Given the description of an element on the screen output the (x, y) to click on. 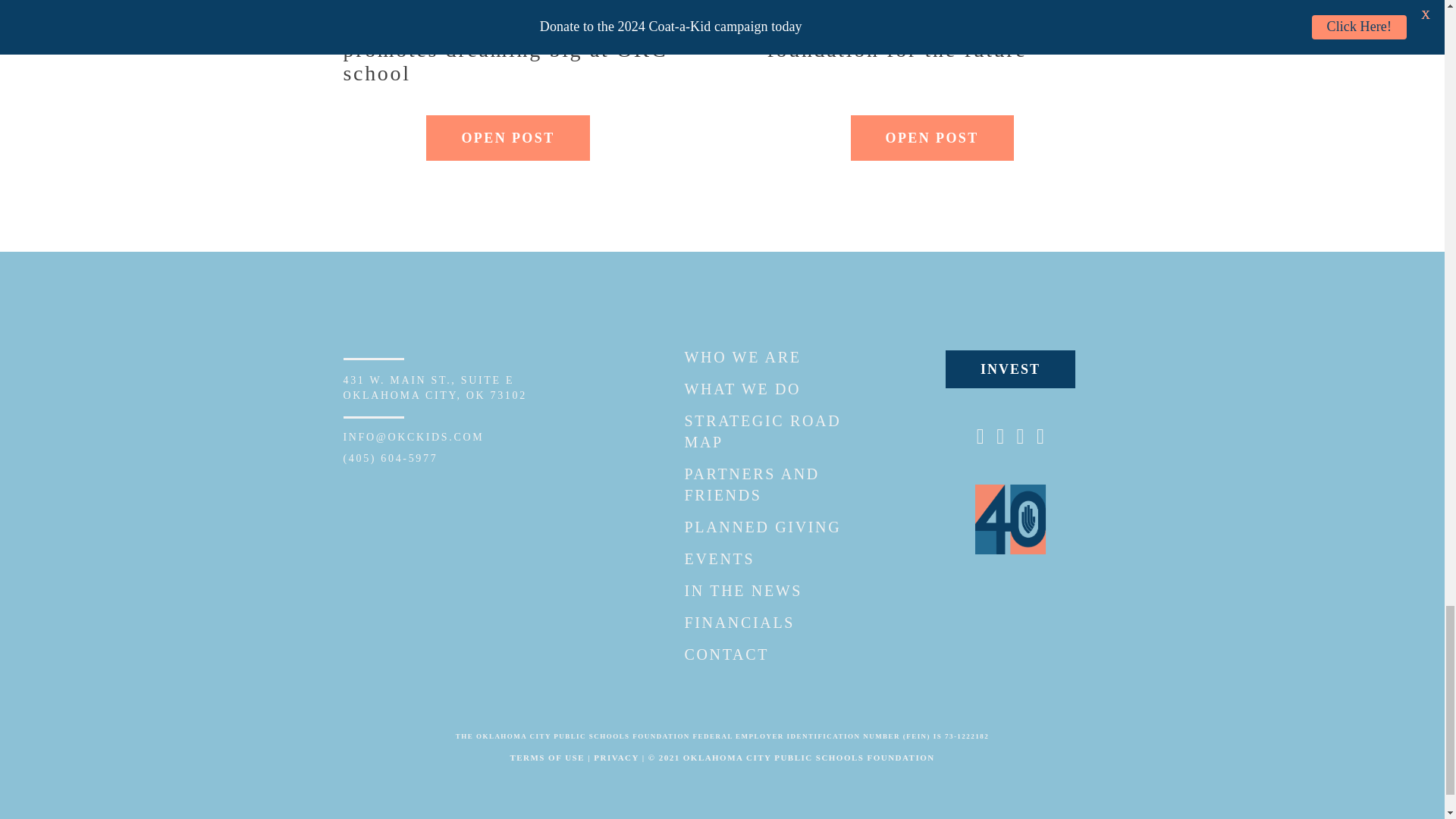
IN THE NEWS (743, 590)
WHAT WE DO (742, 388)
STRATEGIC ROAD MAP (762, 431)
Point of View: Laying a foundation for the future (932, 49)
OPEN POST (507, 137)
PARTNERS AND FRIENDS (433, 387)
PLANNED GIVING (751, 484)
EVENTS (762, 526)
March Madness makeover promotes dreaming big at OKC school (719, 558)
